Given the description of an element on the screen output the (x, y) to click on. 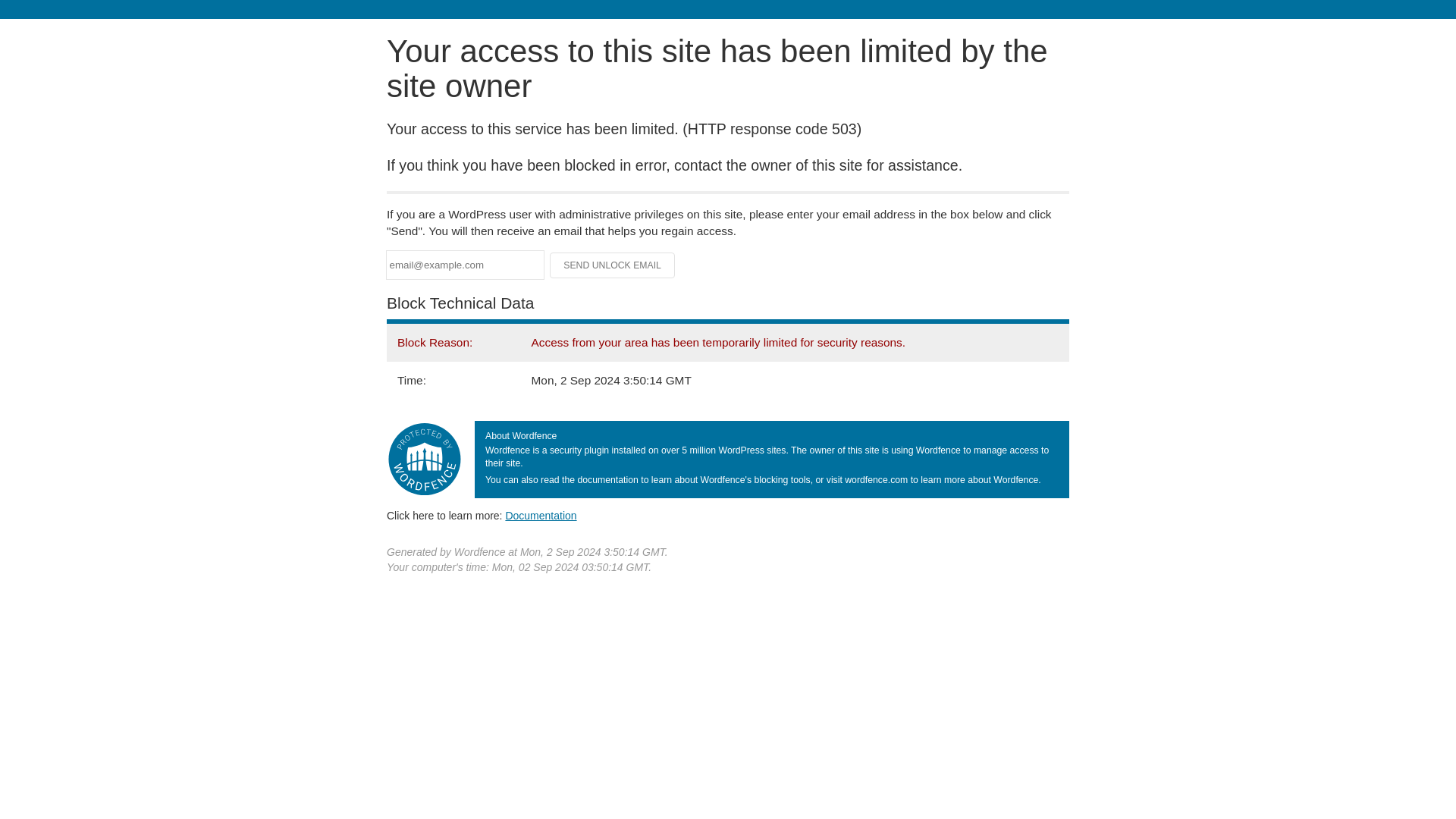
Send Unlock Email (612, 265)
Send Unlock Email (612, 265)
Documentation (540, 515)
